Given the description of an element on the screen output the (x, y) to click on. 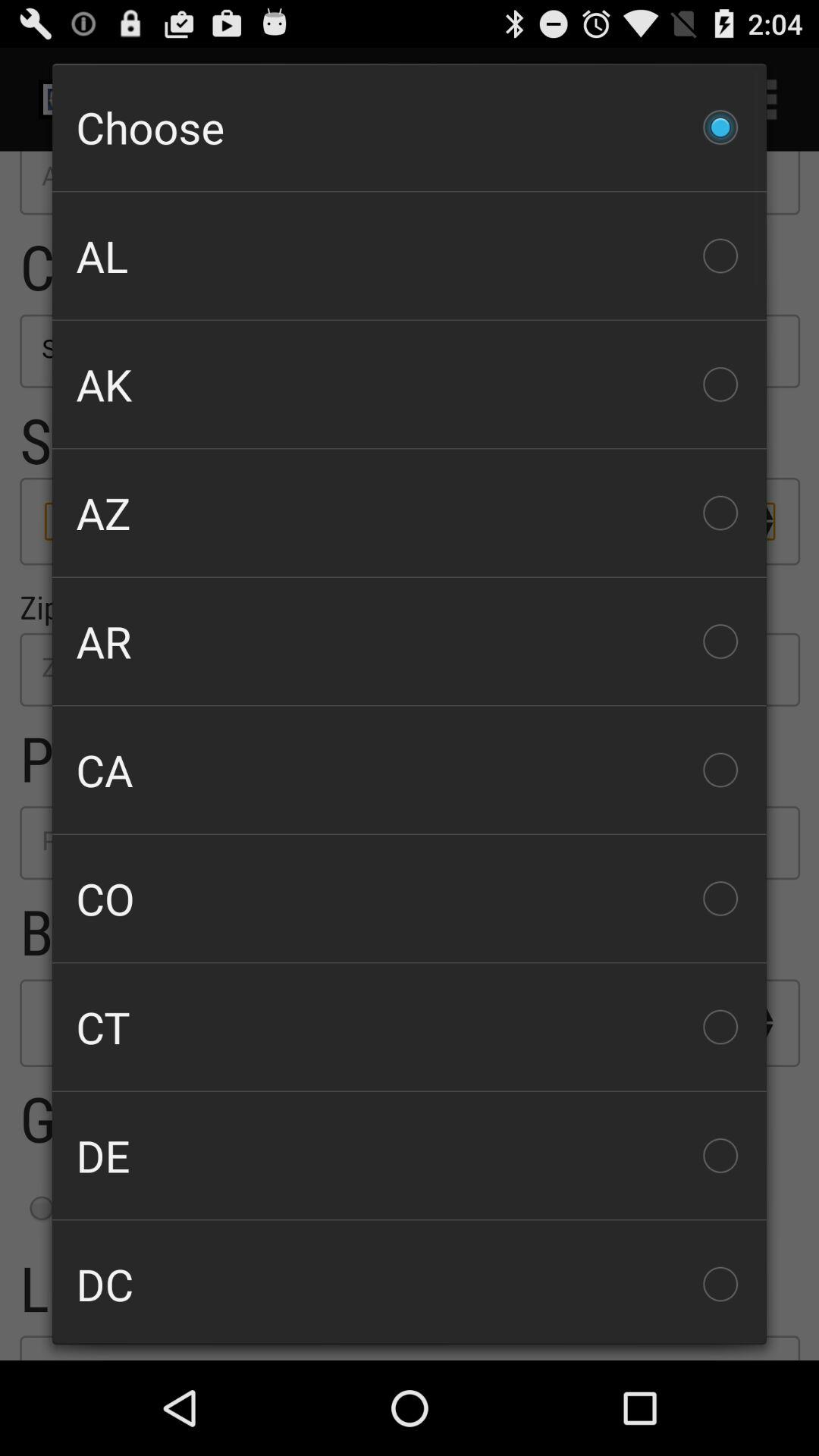
open the ar item (409, 641)
